Given the description of an element on the screen output the (x, y) to click on. 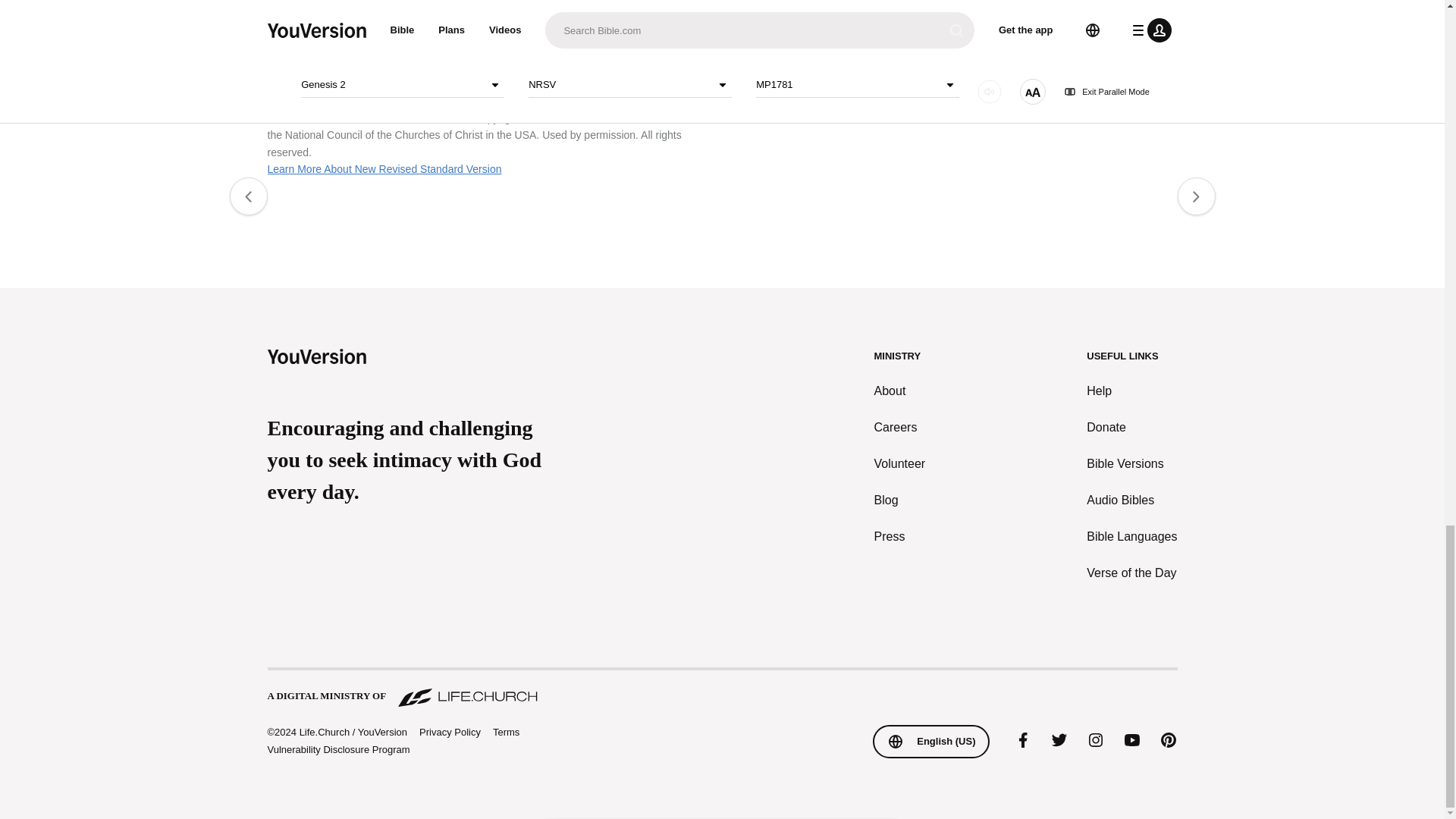
Bible Versions (1131, 464)
Volunteer (900, 464)
Blog (900, 500)
Press (900, 536)
Terms (506, 731)
Careers (900, 427)
Vulnerability Disclosure Program (337, 749)
Learn More About New Revised Standard Version (383, 168)
Donate (1131, 427)
About (900, 391)
